Given the description of an element on the screen output the (x, y) to click on. 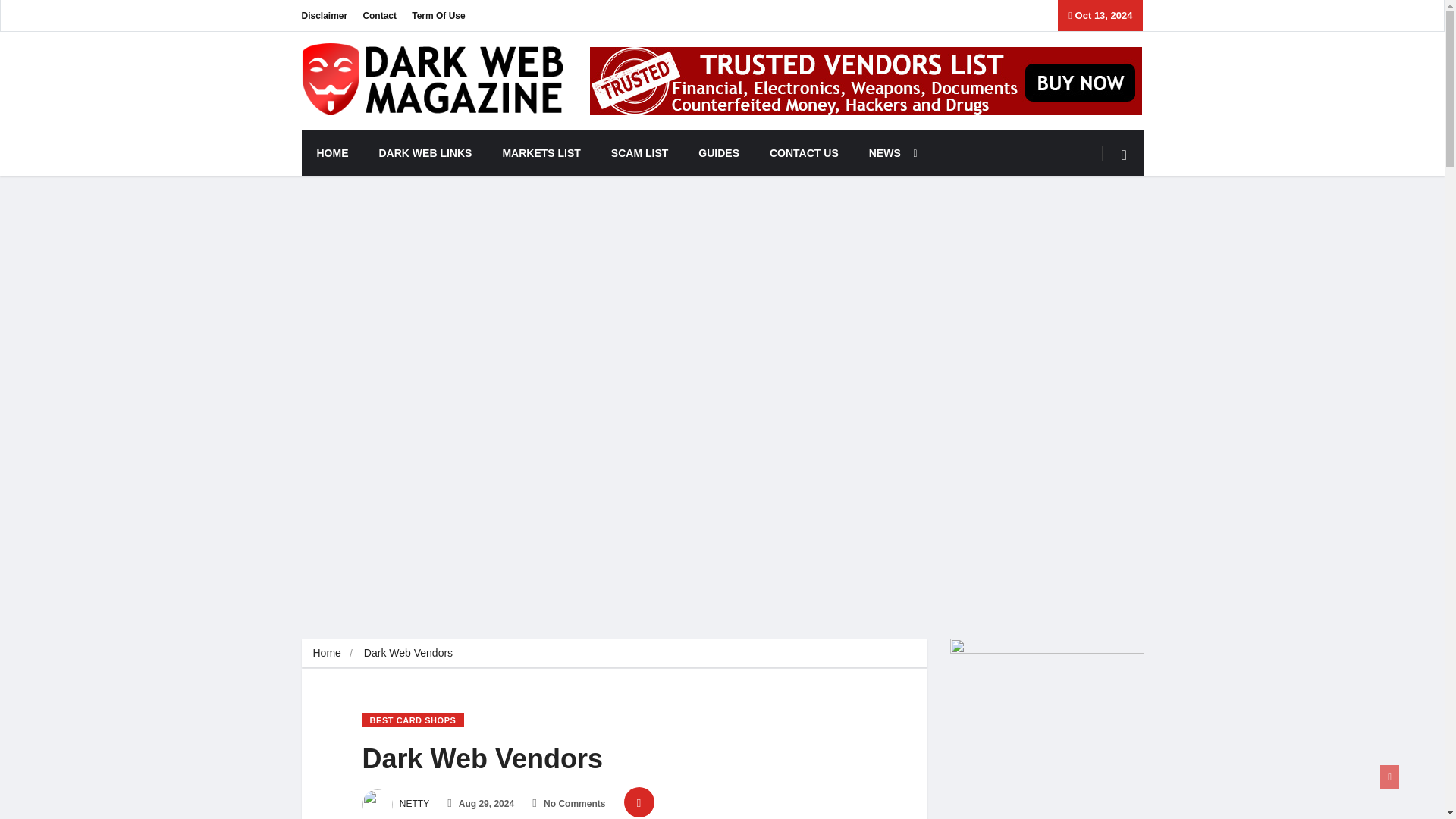
SCAM LIST (638, 153)
Home (326, 653)
GUIDES (718, 153)
DARK WEB LINKS (425, 153)
CONTACT US (803, 153)
Term Of Use (438, 15)
MARKETS LIST (540, 153)
BEST CARD SHOPS (413, 719)
Contact (379, 15)
Disclaimer (324, 15)
HOME (332, 153)
NETTY (395, 803)
NEWS (888, 153)
